Given the description of an element on the screen output the (x, y) to click on. 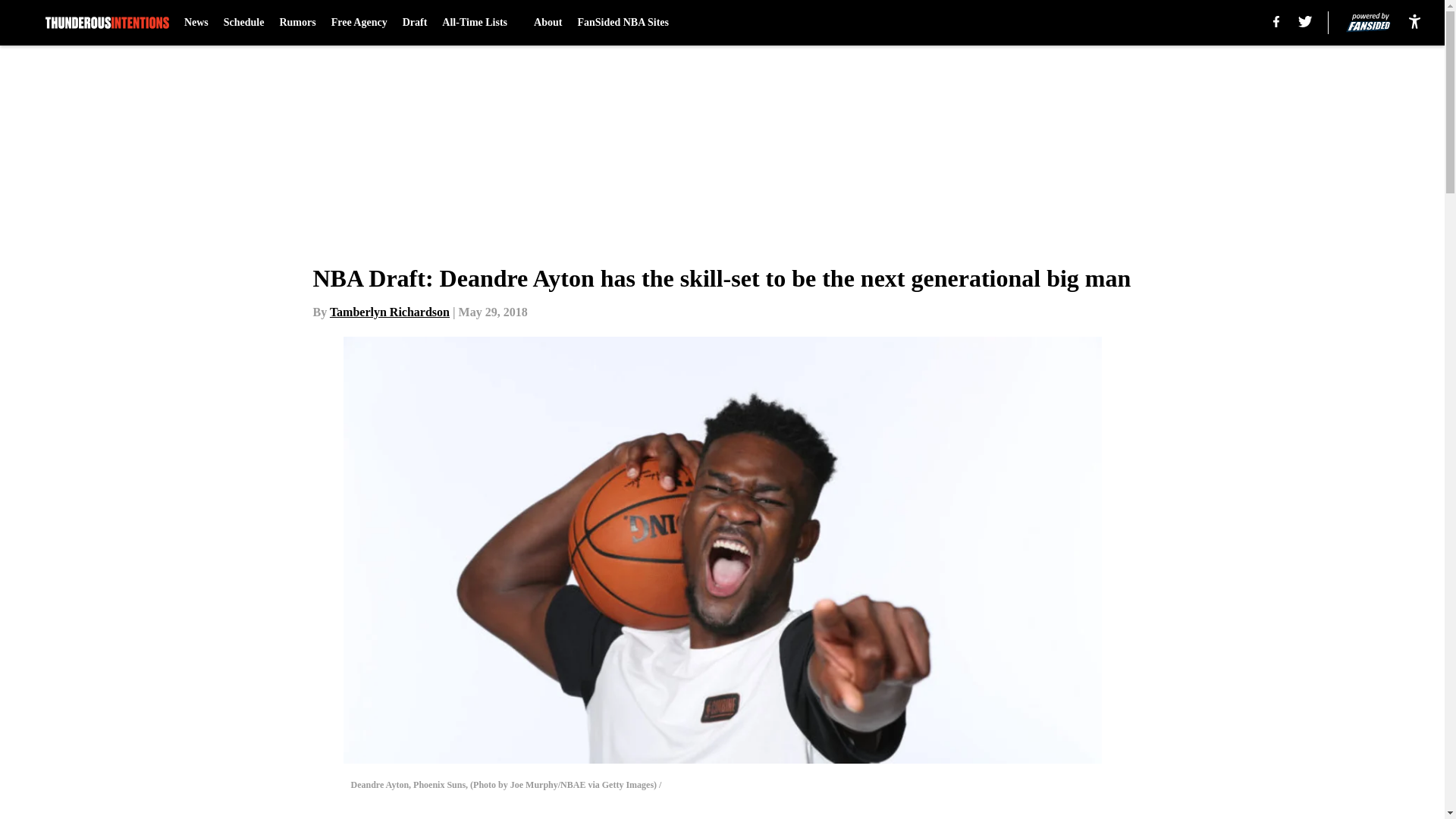
About (548, 22)
News (196, 22)
All-Time Lists (480, 22)
Tamberlyn Richardson (389, 311)
Schedule (244, 22)
Free Agency (359, 22)
FanSided NBA Sites (622, 22)
Draft (415, 22)
Rumors (297, 22)
